Given the description of an element on the screen output the (x, y) to click on. 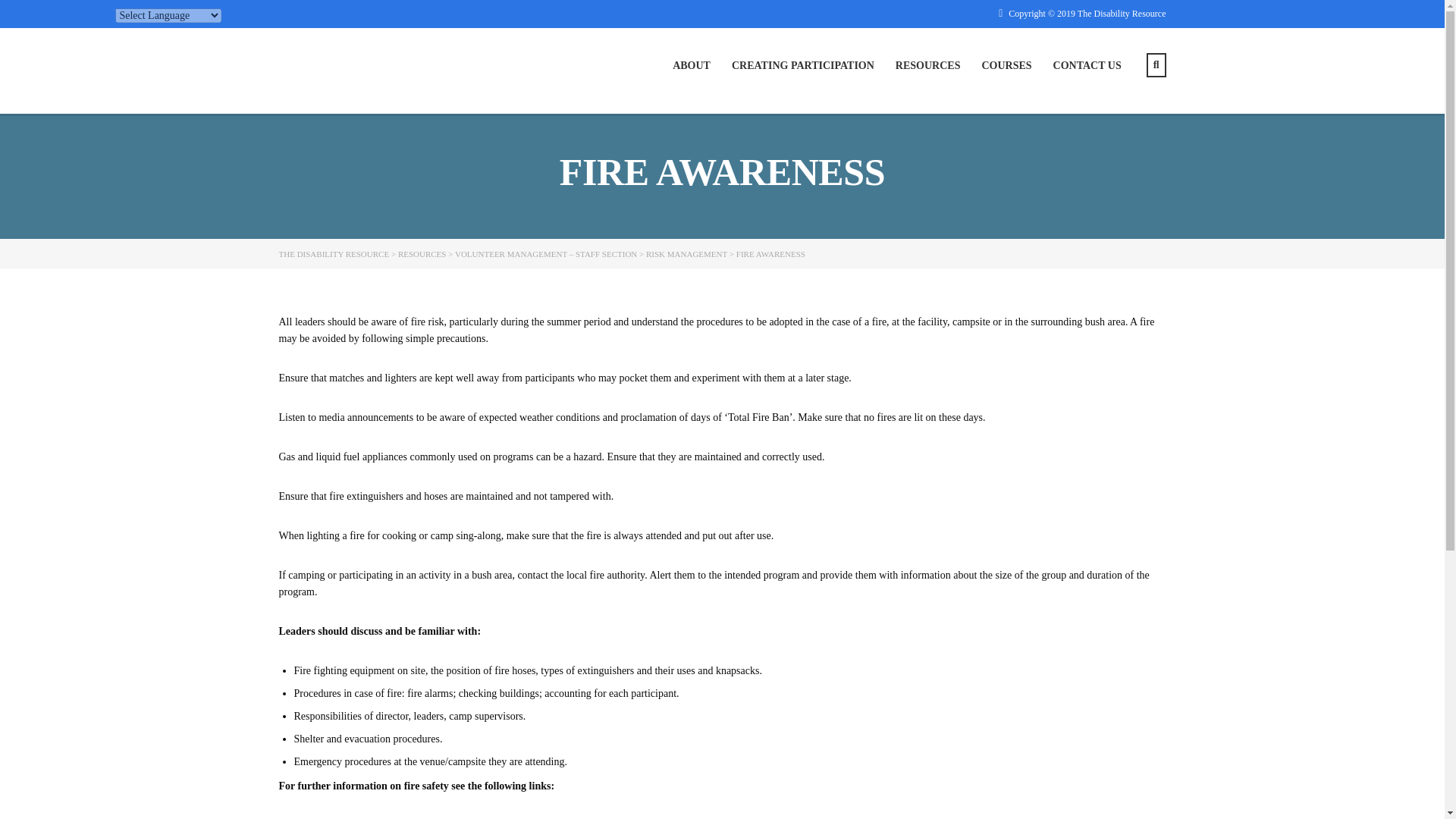
Go to Risk Management. (686, 253)
Go to Resources. (421, 253)
ABOUT (691, 65)
Go to The Disability Resource. (334, 253)
